Given the description of an element on the screen output the (x, y) to click on. 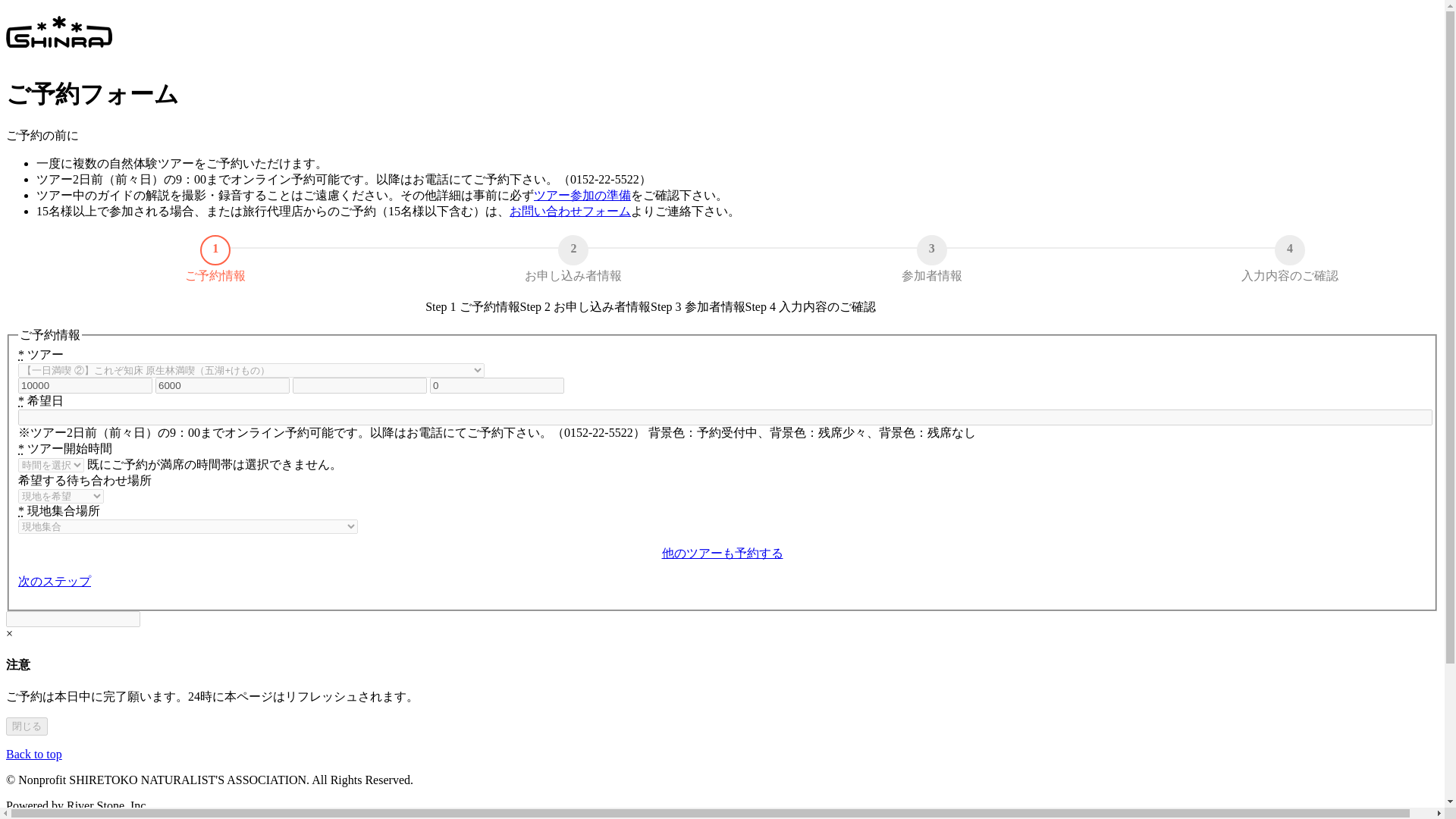
6000 (222, 385)
0 (496, 385)
10000 (84, 385)
Back to top (33, 753)
